Given the description of an element on the screen output the (x, y) to click on. 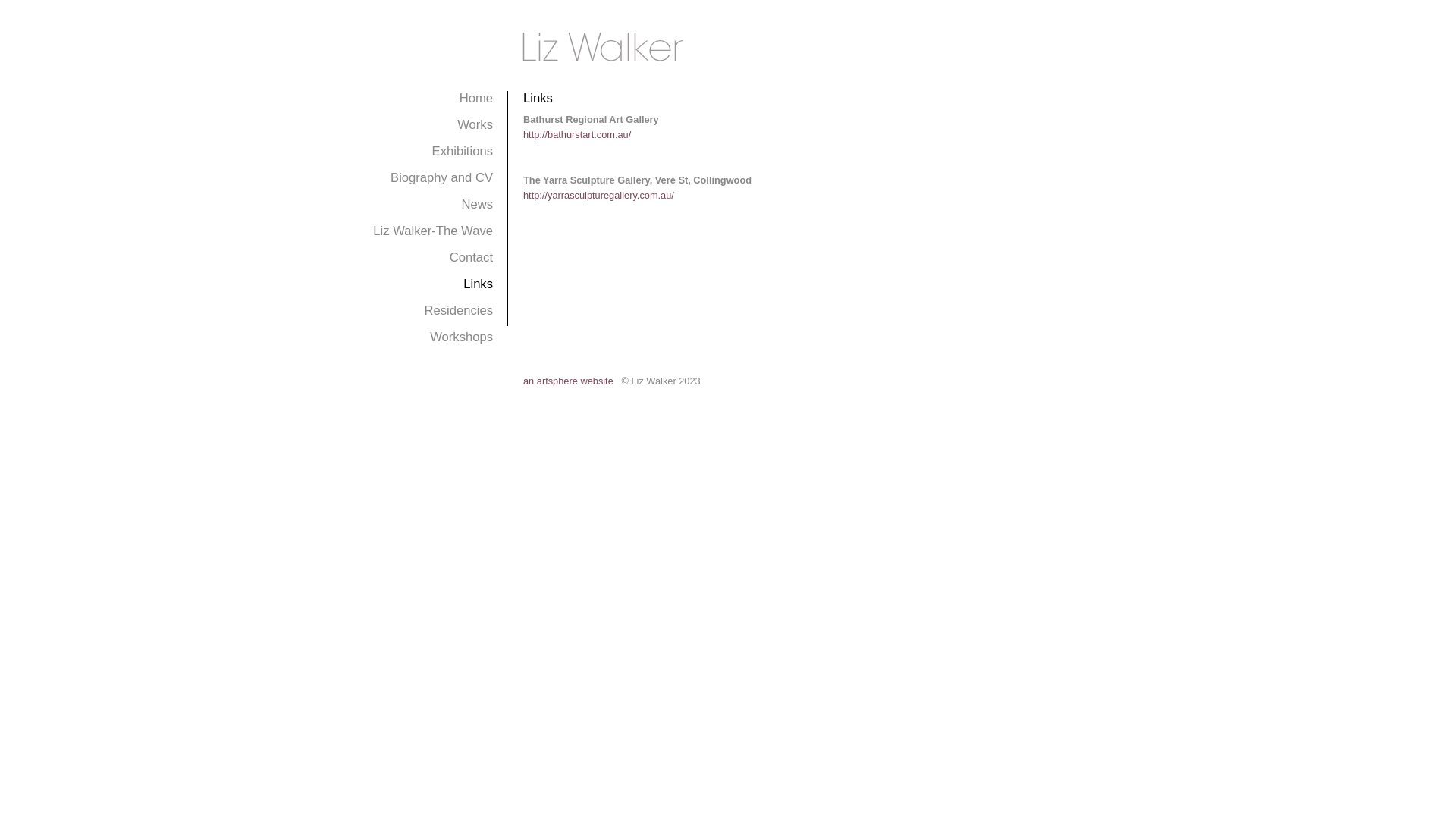
Home Element type: text (475, 98)
News Element type: text (476, 204)
Works Element type: text (474, 124)
http://bathurstart.com.au/ Element type: text (576, 134)
Contact Element type: text (470, 257)
Exhibitions Element type: text (462, 151)
http://yarrasculpturegallery.com.au/ Element type: text (598, 194)
an artsphere website Element type: text (568, 380)
Biography and CV Element type: text (441, 177)
Workshops Element type: text (460, 336)
Liz Walker-The Wave Element type: text (432, 230)
Links Element type: text (477, 283)
Residencies Element type: text (457, 310)
